Given the description of an element on the screen output the (x, y) to click on. 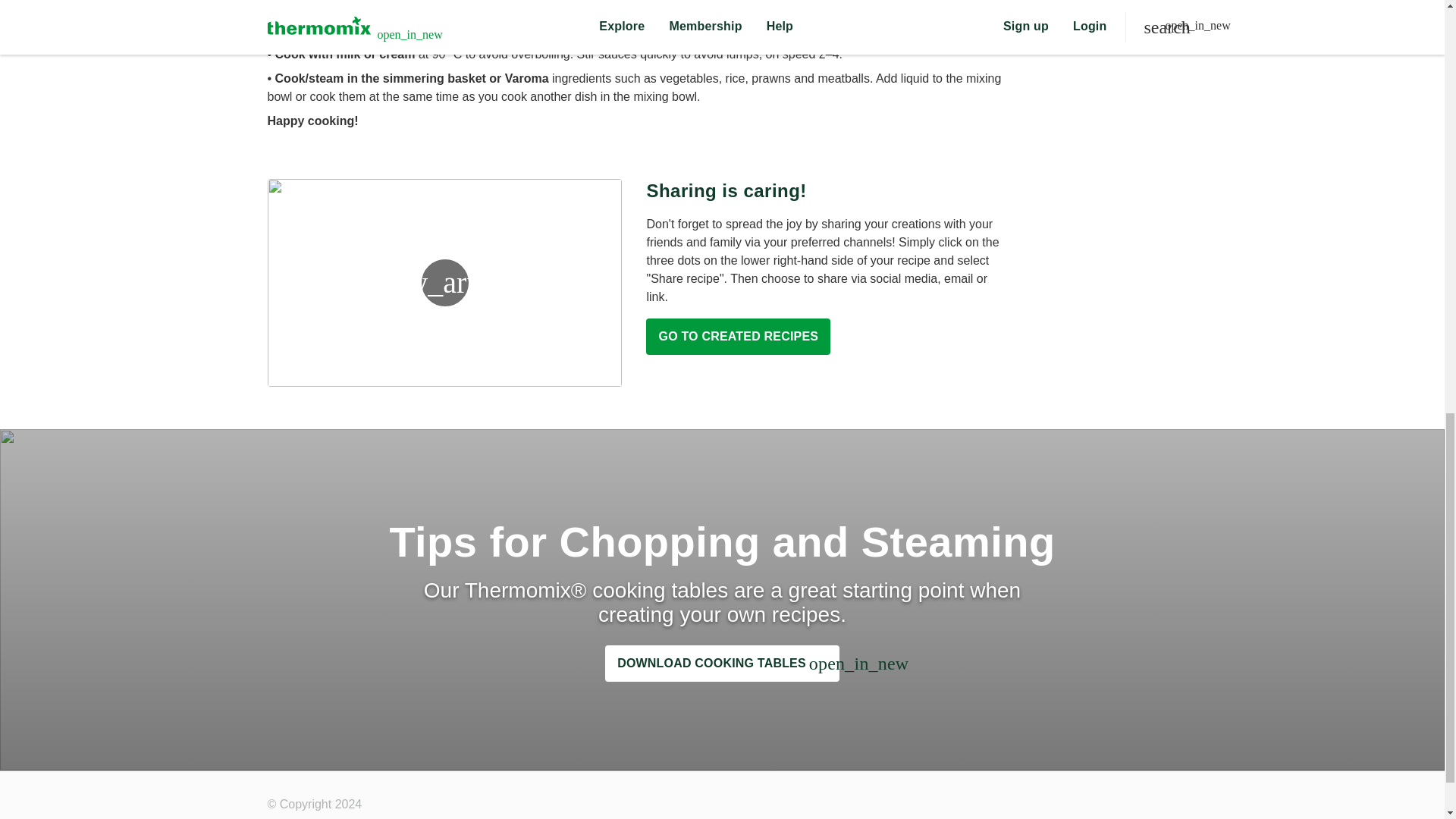
GO TO CREATED RECIPES (737, 336)
DOWNLOAD COOKING TABLES (722, 663)
